Given the description of an element on the screen output the (x, y) to click on. 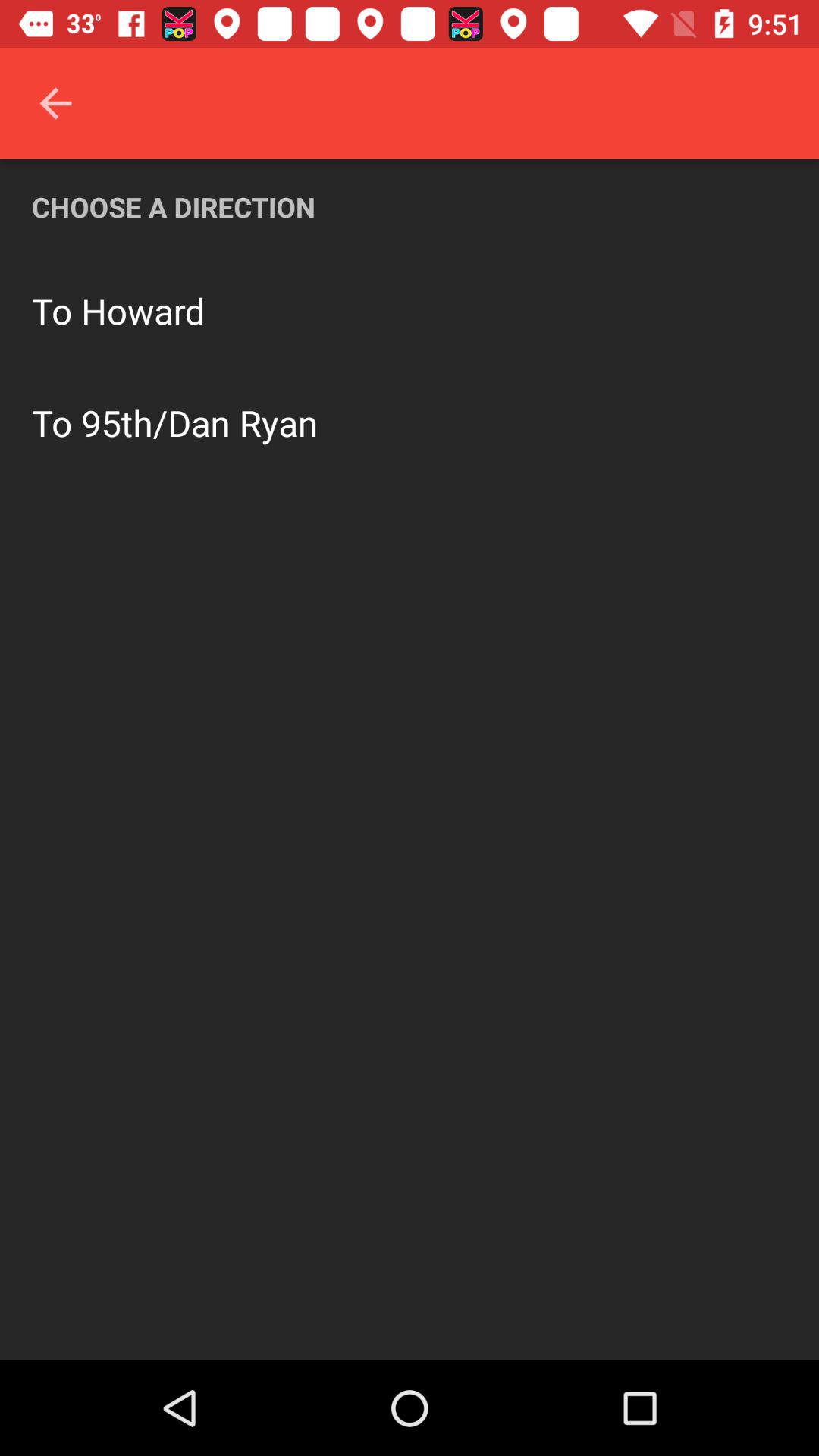
turn on 95th/dan ryan (199, 422)
